Given the description of an element on the screen output the (x, y) to click on. 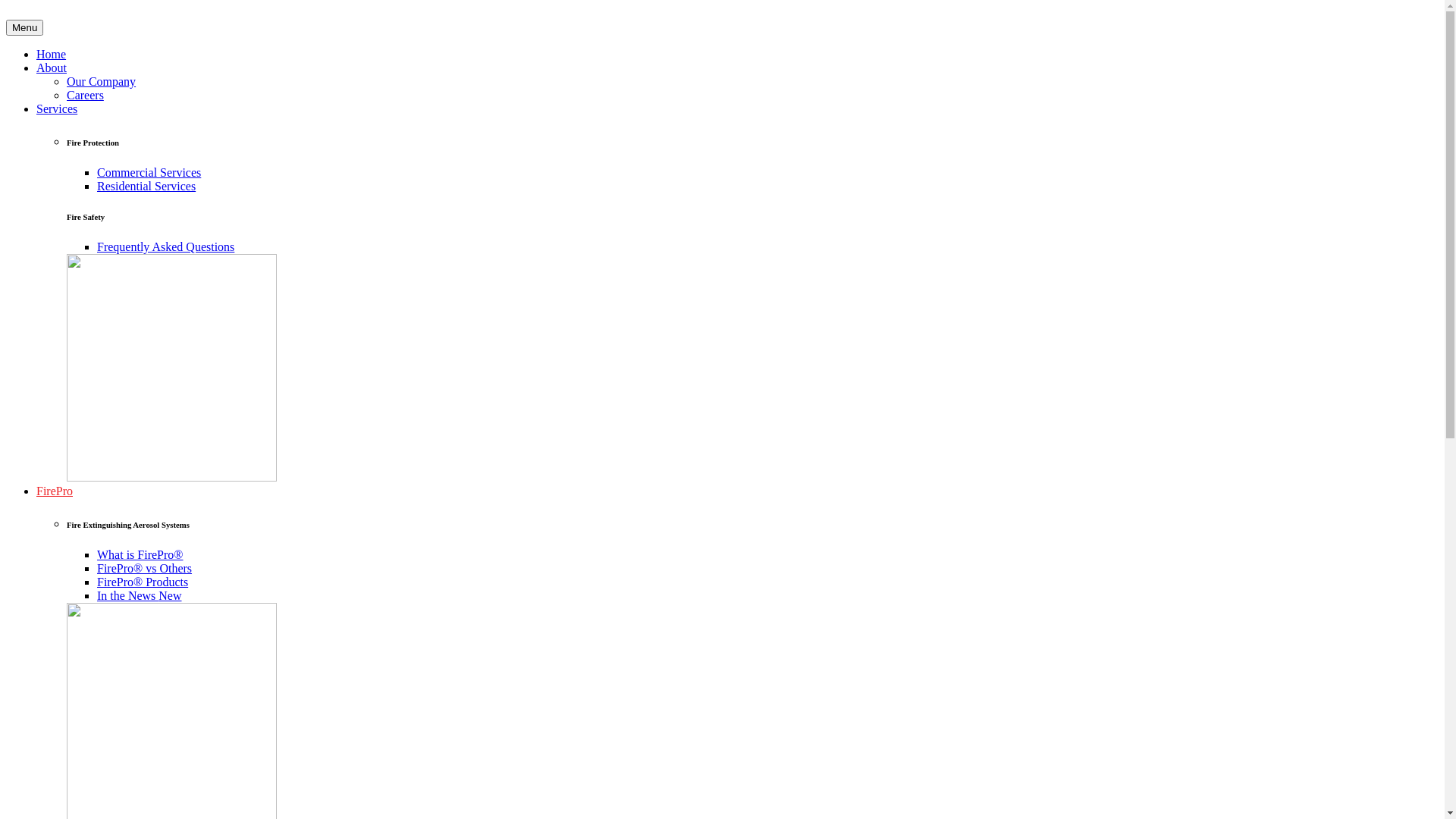
Commercial Services Element type: text (148, 172)
Careers Element type: text (84, 94)
FirePro Element type: text (54, 490)
Frequently Asked Questions Element type: text (165, 246)
Home Element type: text (50, 53)
About Element type: text (51, 67)
Residential Services Element type: text (146, 185)
Services Element type: text (56, 108)
Our Company Element type: text (100, 81)
In the News New Element type: text (139, 595)
Menu Element type: text (24, 27)
